Given the description of an element on the screen output the (x, y) to click on. 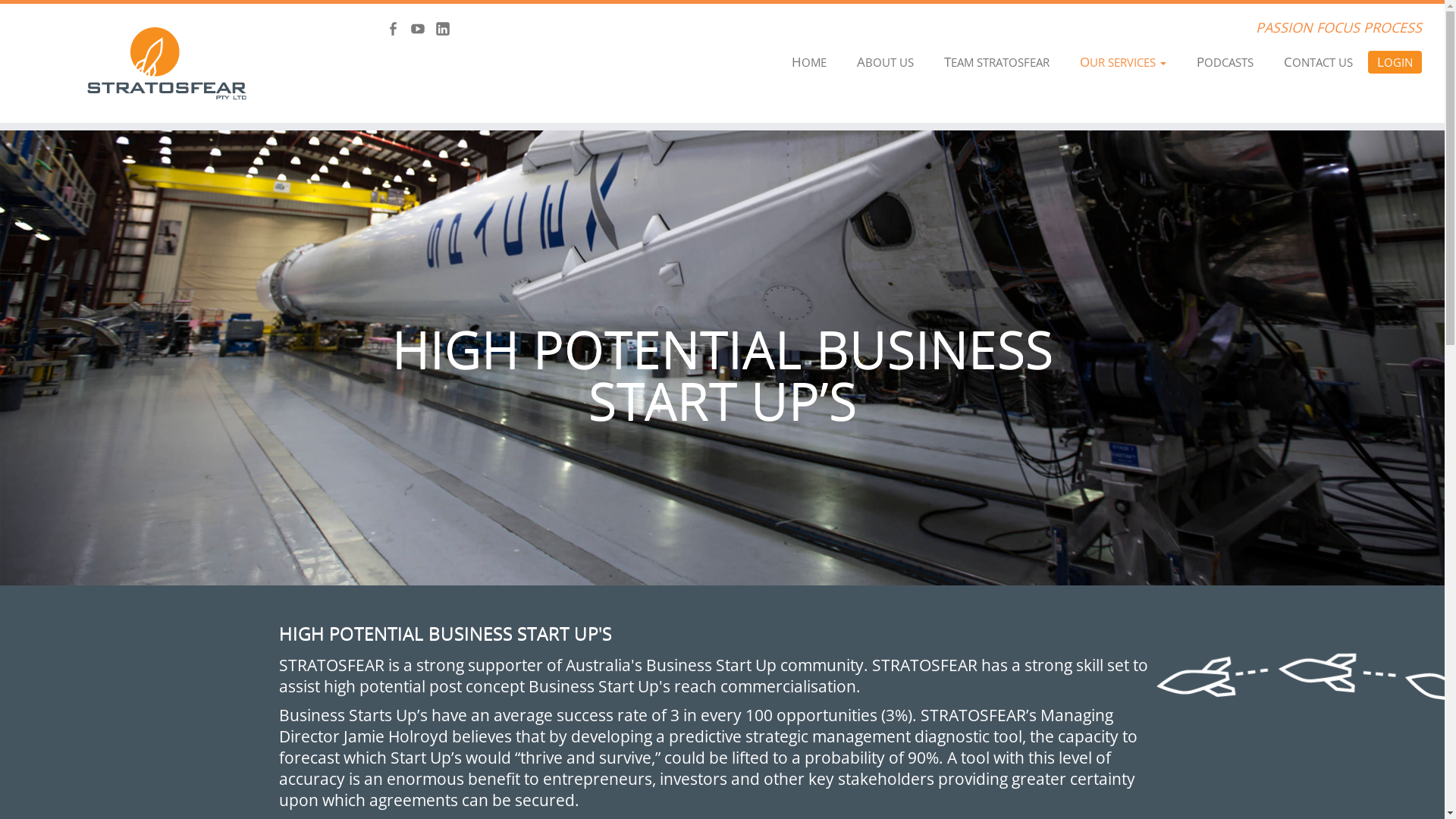
Follow me on YouTube Element type: hover (422, 30)
Follow me on LinkedIn Element type: hover (447, 30)
OUR SERVICES Element type: text (1122, 61)
PODCASTS Element type: text (1224, 61)
LOGIN Element type: text (1394, 61)
HOME Element type: text (808, 61)
CONTACT US Element type: text (1318, 61)
ABOUT US Element type: text (884, 61)
Follow me on Facebook Element type: hover (397, 30)
TEAM STRATOSFEAR Element type: text (996, 61)
